Given the description of an element on the screen output the (x, y) to click on. 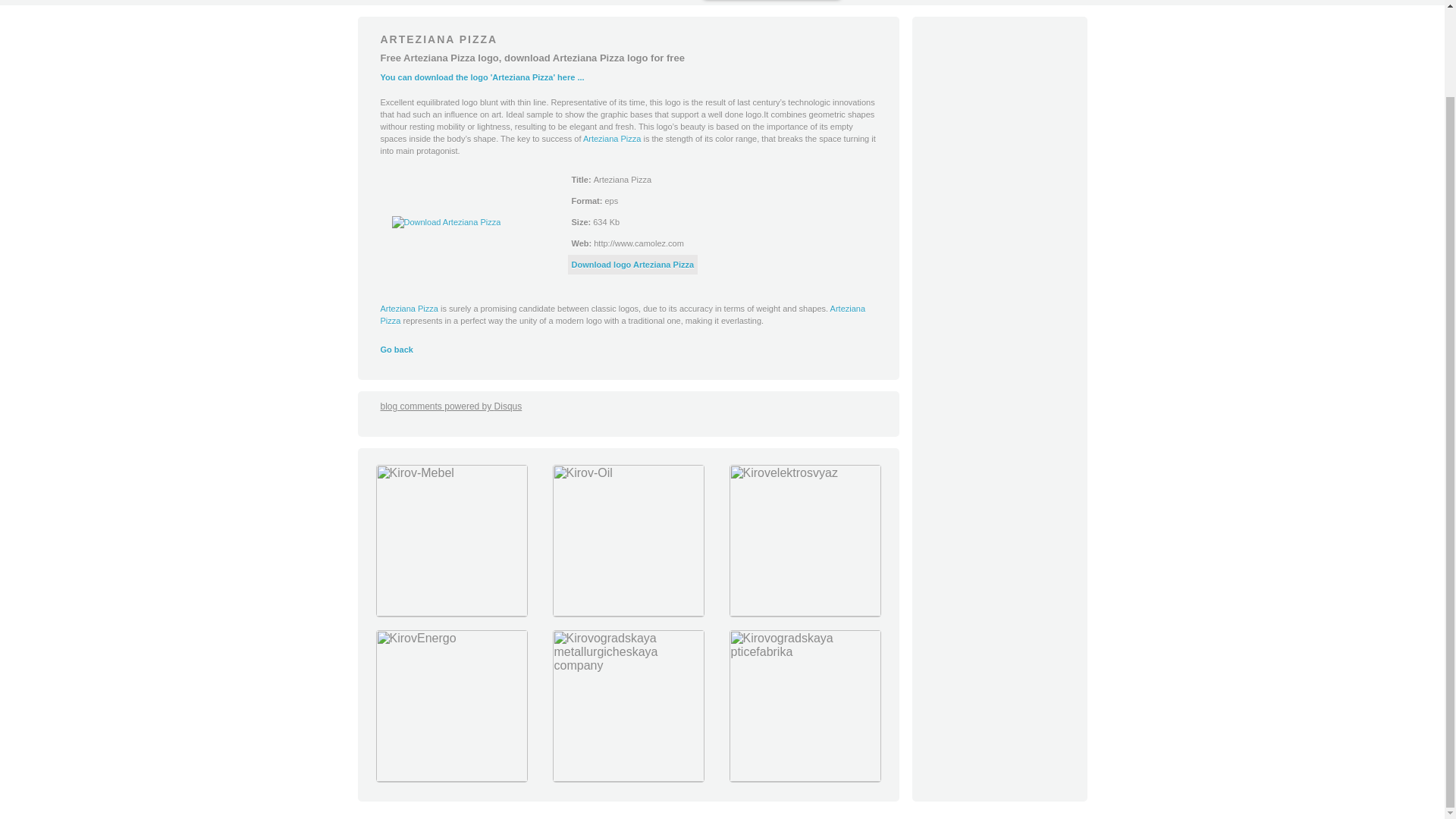
Arteziana Pizza (611, 138)
Download Logo Kirovogradskaya metallurgicheskaya company (627, 778)
Download Arteziana Pizza (633, 264)
Download Logo Kirovogradskaya pticefabrika (804, 778)
Arteziana Pizza (623, 314)
Go back (396, 348)
You can download the logo 'Arteziana Pizza' here ... (482, 76)
Arteziana Pizza (611, 138)
Arteziana Pizza (409, 307)
Download Logo Kirov-Mebel (450, 612)
